Given the description of an element on the screen output the (x, y) to click on. 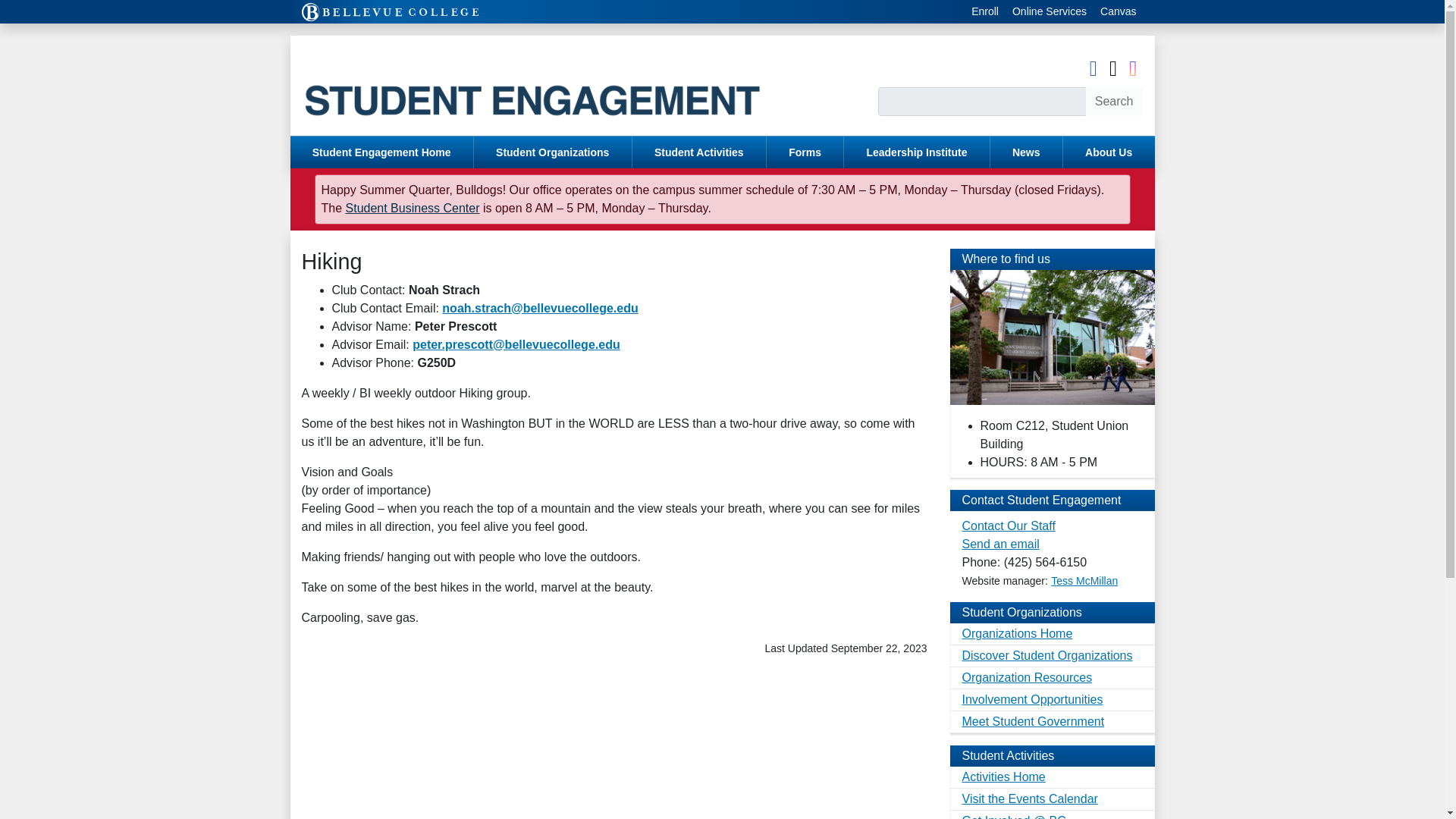
Student Organizations (552, 152)
Meet Student Government (1051, 722)
News (1026, 152)
Forms (805, 152)
Enroll (984, 11)
Search (1113, 101)
Return to Home Page (563, 85)
Tess McMillan (1084, 580)
Involvement Opportunities (1051, 700)
Leadership Institute (917, 152)
Send an email (999, 543)
Student Activities (698, 152)
Student Activities (698, 152)
News (1026, 152)
